Given the description of an element on the screen output the (x, y) to click on. 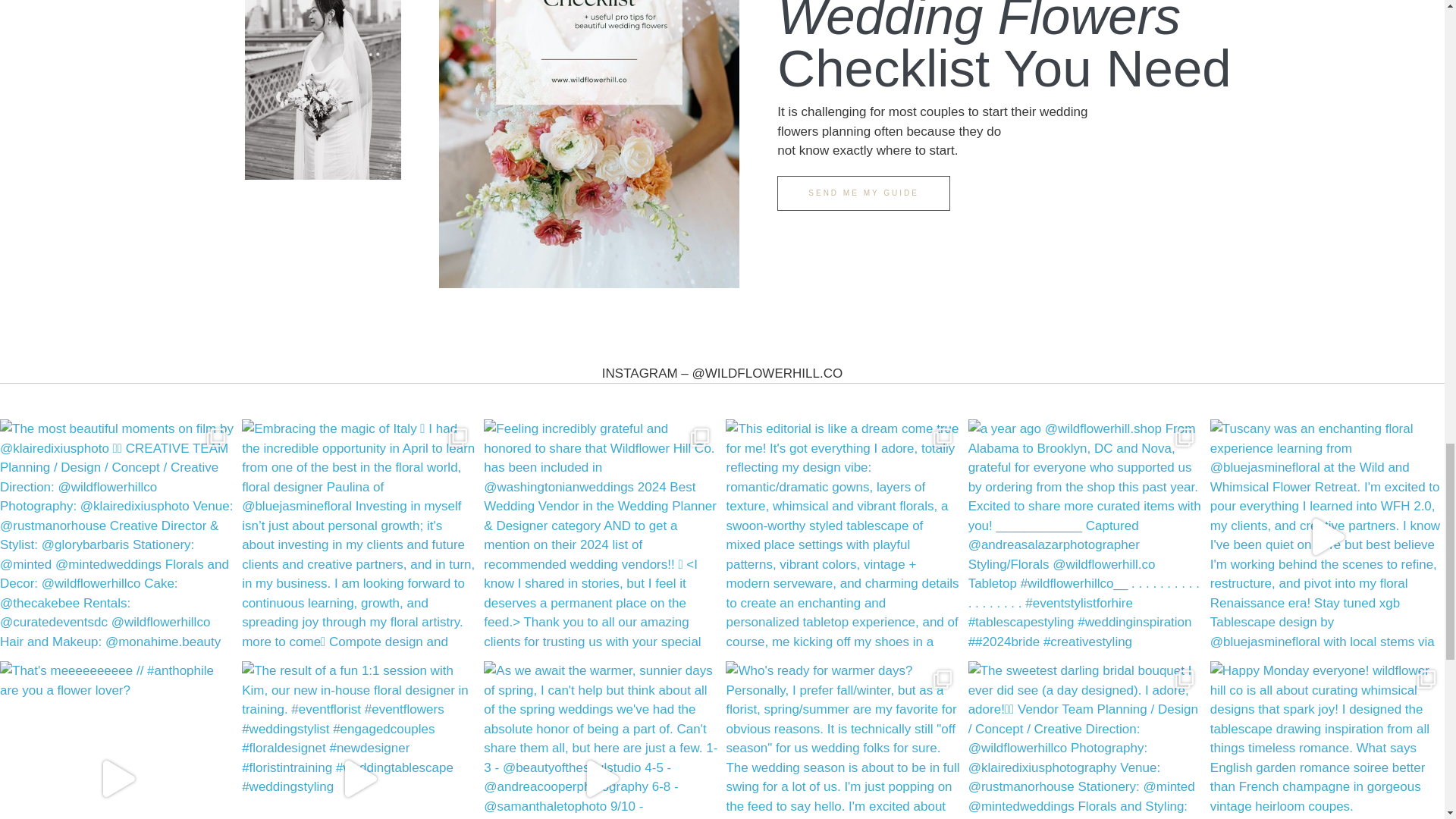
SEND ME MY GUIDE (863, 193)
